Given the description of an element on the screen output the (x, y) to click on. 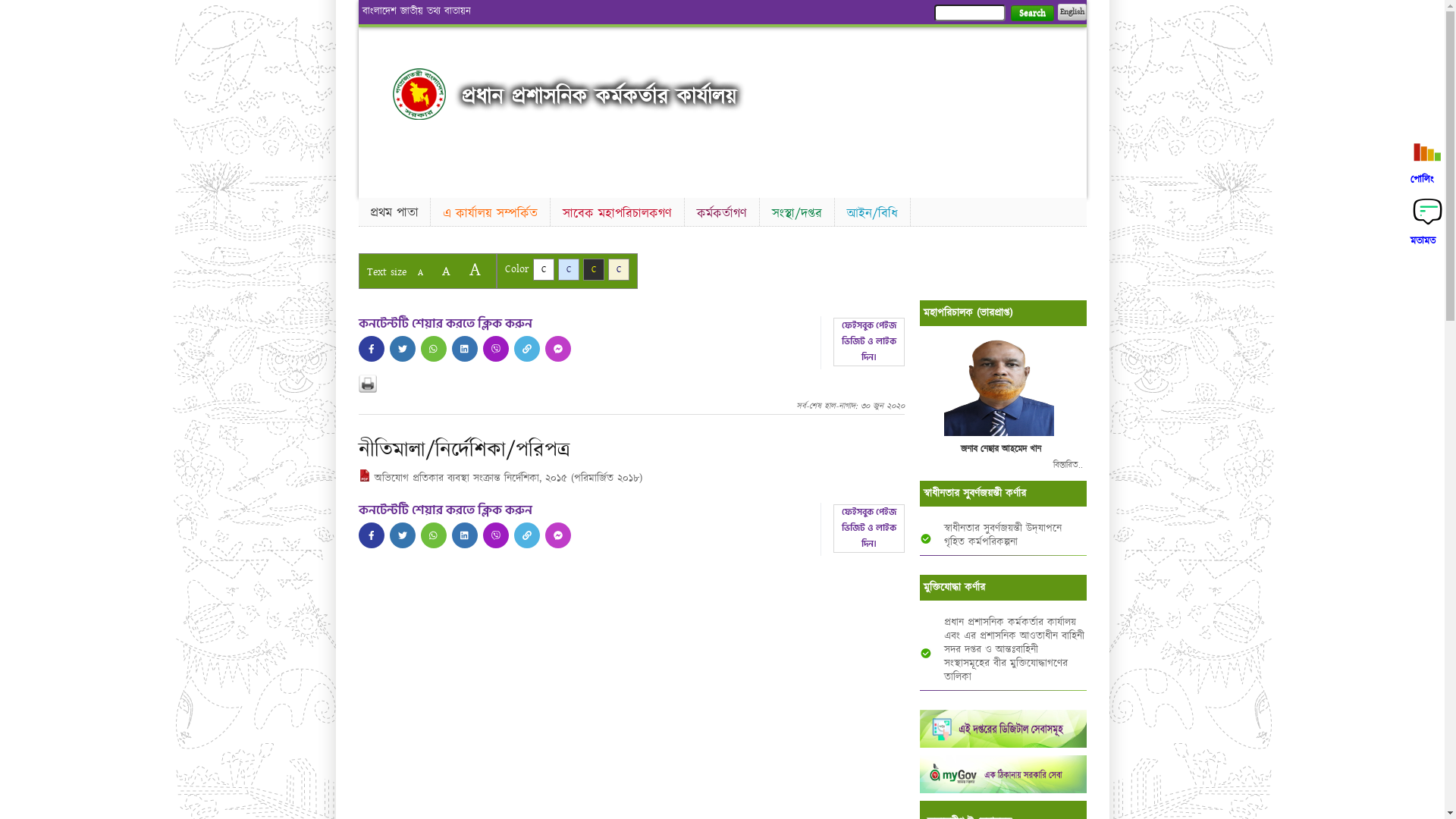
A Element type: text (419, 272)
Search Element type: text (1031, 13)
Home Element type: hover (418, 93)
C Element type: text (568, 269)
English Element type: text (1071, 11)
A Element type: text (474, 269)
A Element type: text (445, 271)
C Element type: text (618, 269)
C Element type: text (542, 269)
C Element type: text (592, 269)
